Given the description of an element on the screen output the (x, y) to click on. 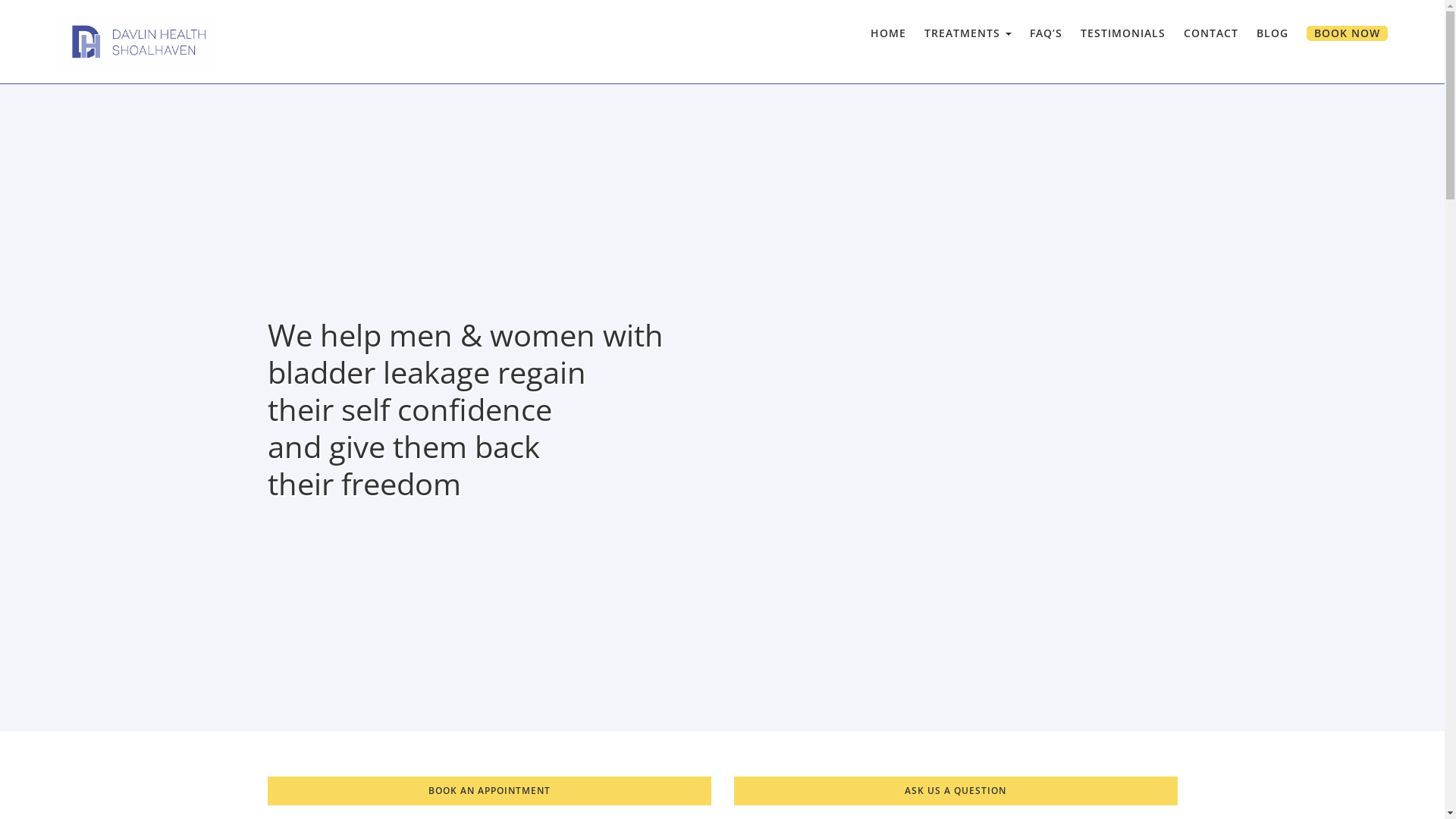
TESTIMONIALS Element type: text (1122, 31)
TREATMENTS Element type: text (967, 31)
HOME Element type: text (892, 31)
CONTACT Element type: text (1210, 31)
ASK US A QUESTION Element type: text (955, 790)
BOOK AN APPOINTMENT Element type: text (488, 790)
BLOG Element type: text (1272, 31)
BOOK NOW Element type: text (1342, 31)
